Given the description of an element on the screen output the (x, y) to click on. 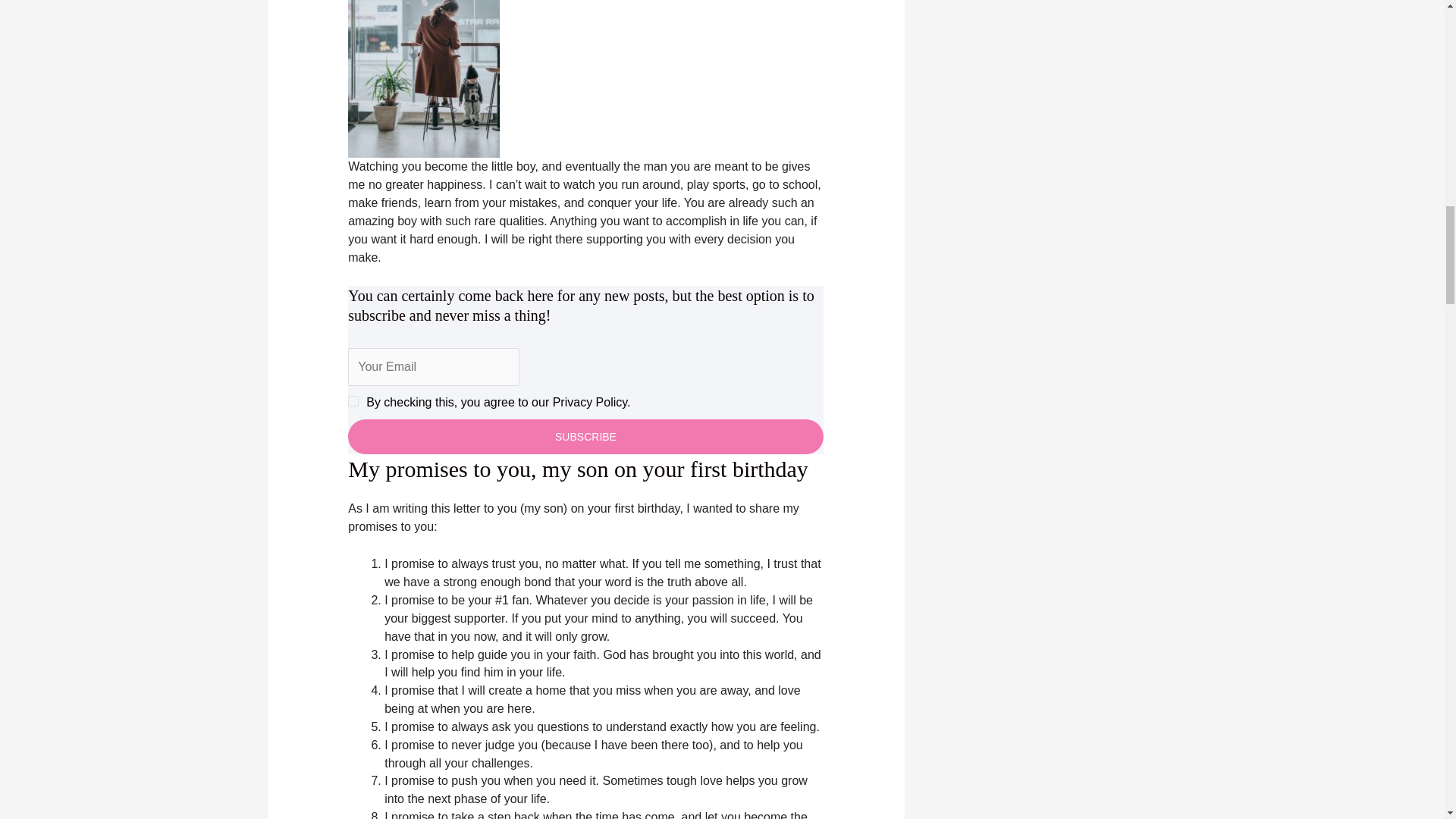
Subscribe (585, 437)
Subscribe (585, 437)
